Given the description of an element on the screen output the (x, y) to click on. 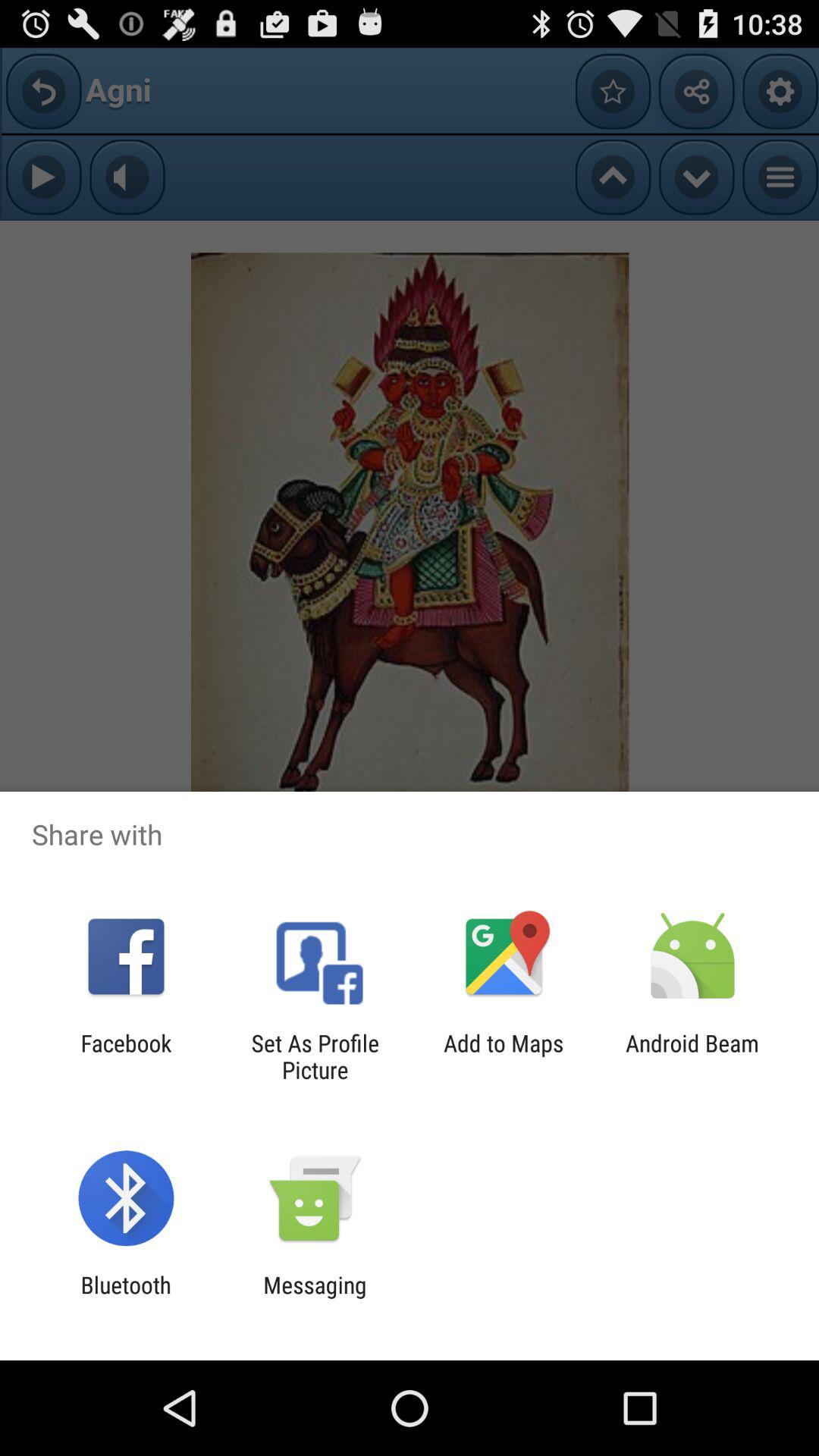
scroll until the add to maps (503, 1056)
